Given the description of an element on the screen output the (x, y) to click on. 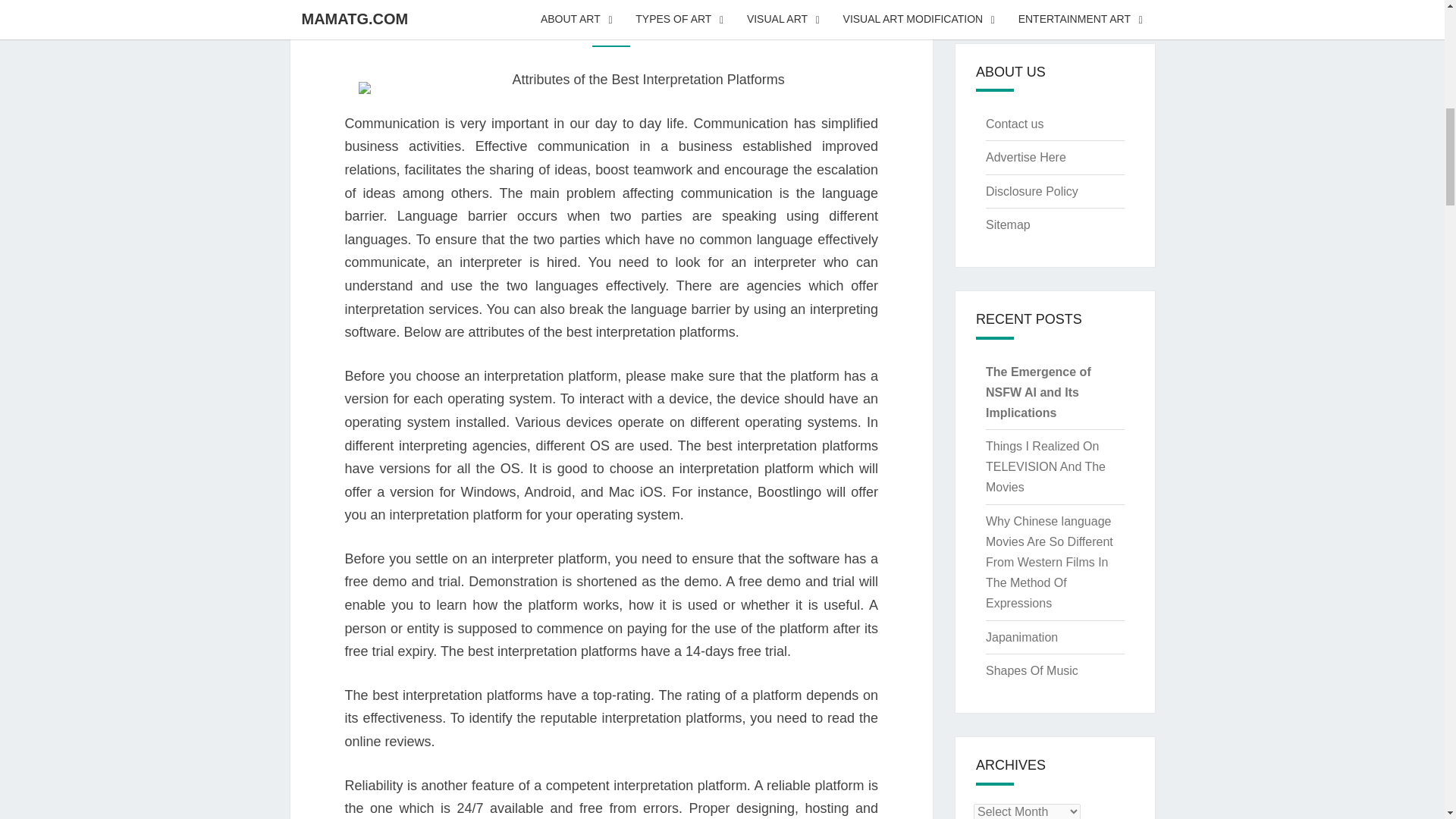
5 USES FOR MANAGEMENT (610, 3)
View all posts by Tanner (676, 28)
January 10, 2019 (590, 28)
3:31 am (590, 28)
Tanner (676, 28)
